Given the description of an element on the screen output the (x, y) to click on. 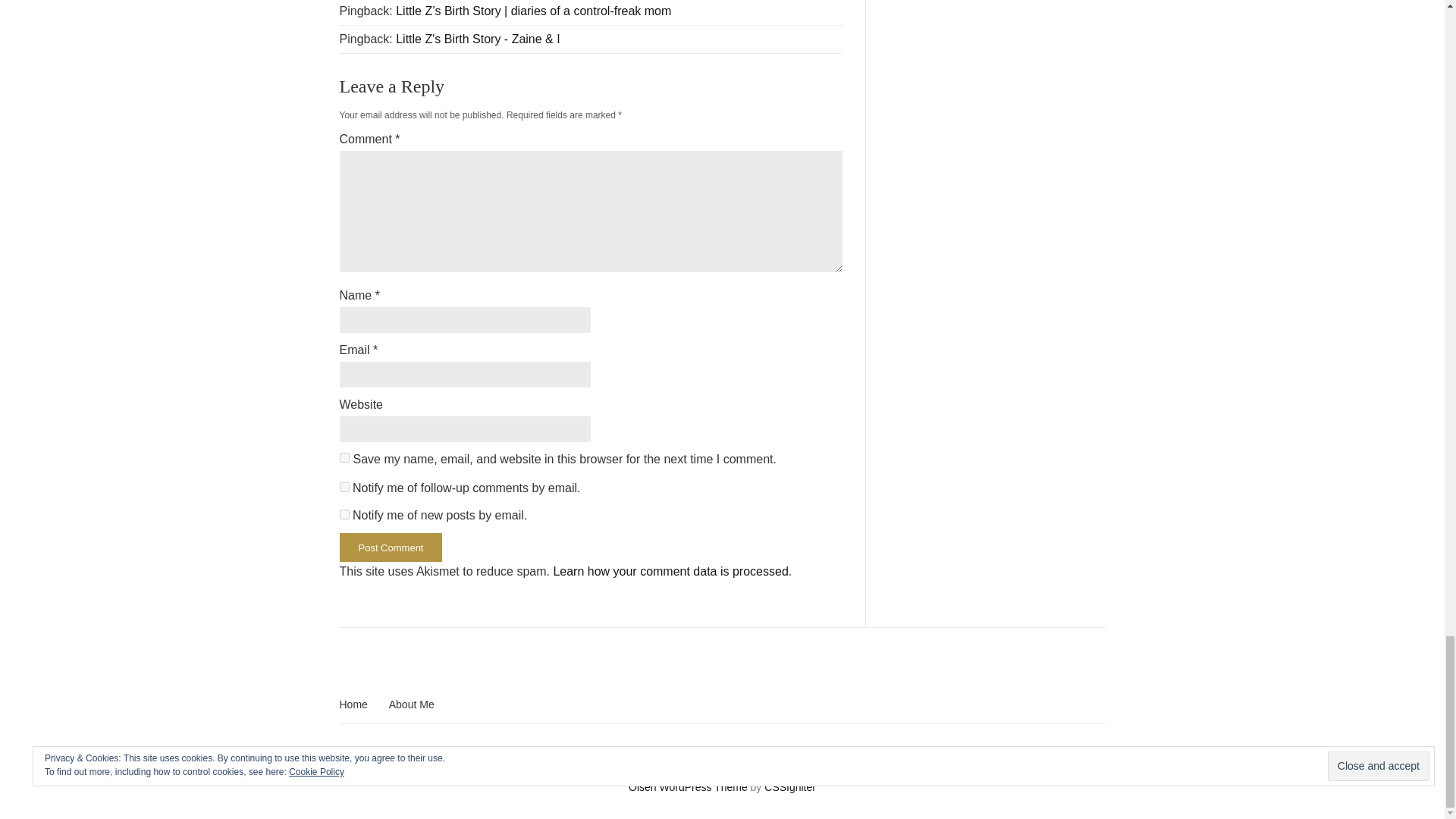
subscribe (344, 487)
subscribe (344, 514)
Post Comment (390, 547)
Blogging theme for WordPress (688, 787)
yes (344, 457)
